Given the description of an element on the screen output the (x, y) to click on. 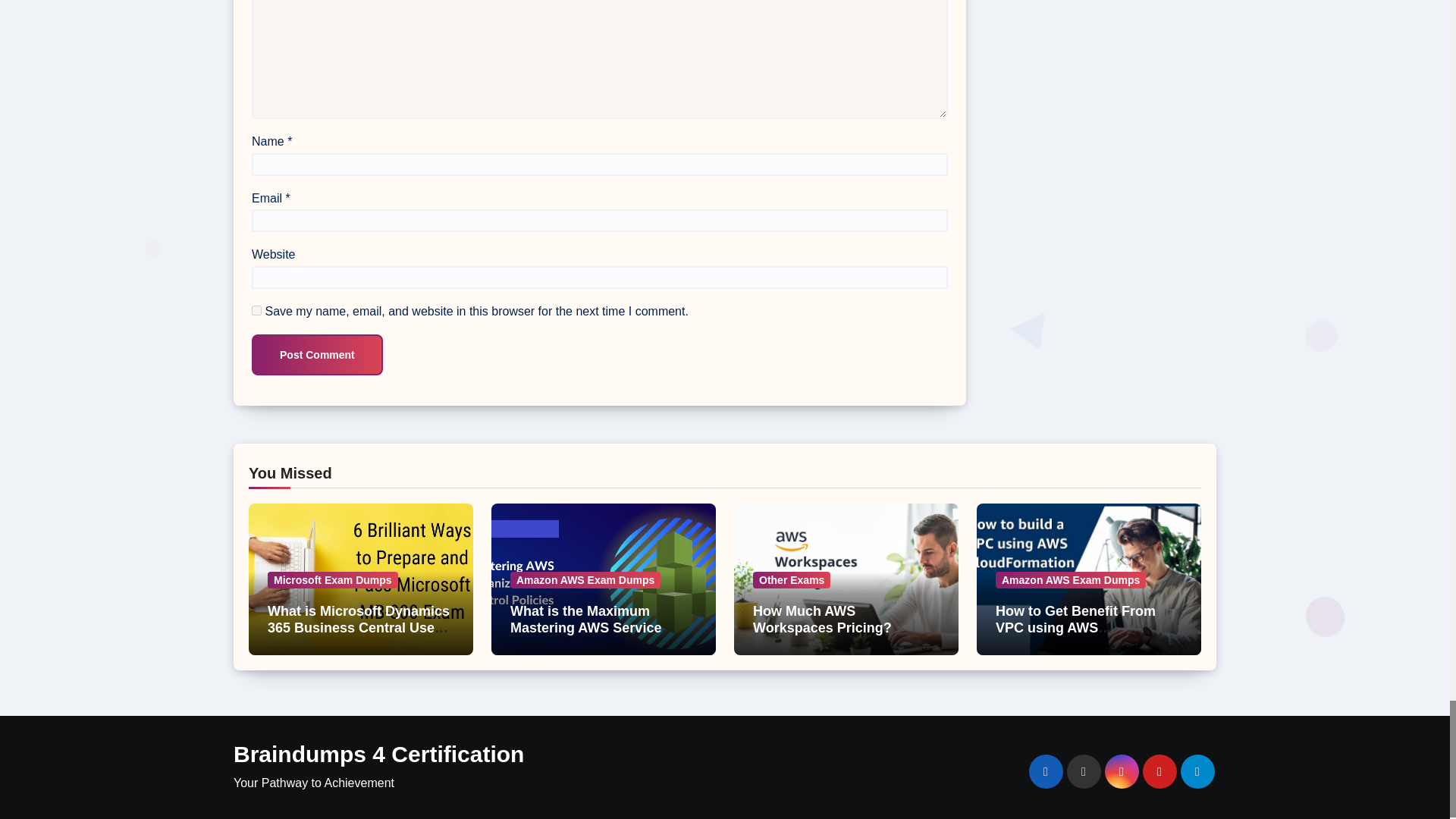
Post Comment (316, 354)
yes (256, 310)
